Given the description of an element on the screen output the (x, y) to click on. 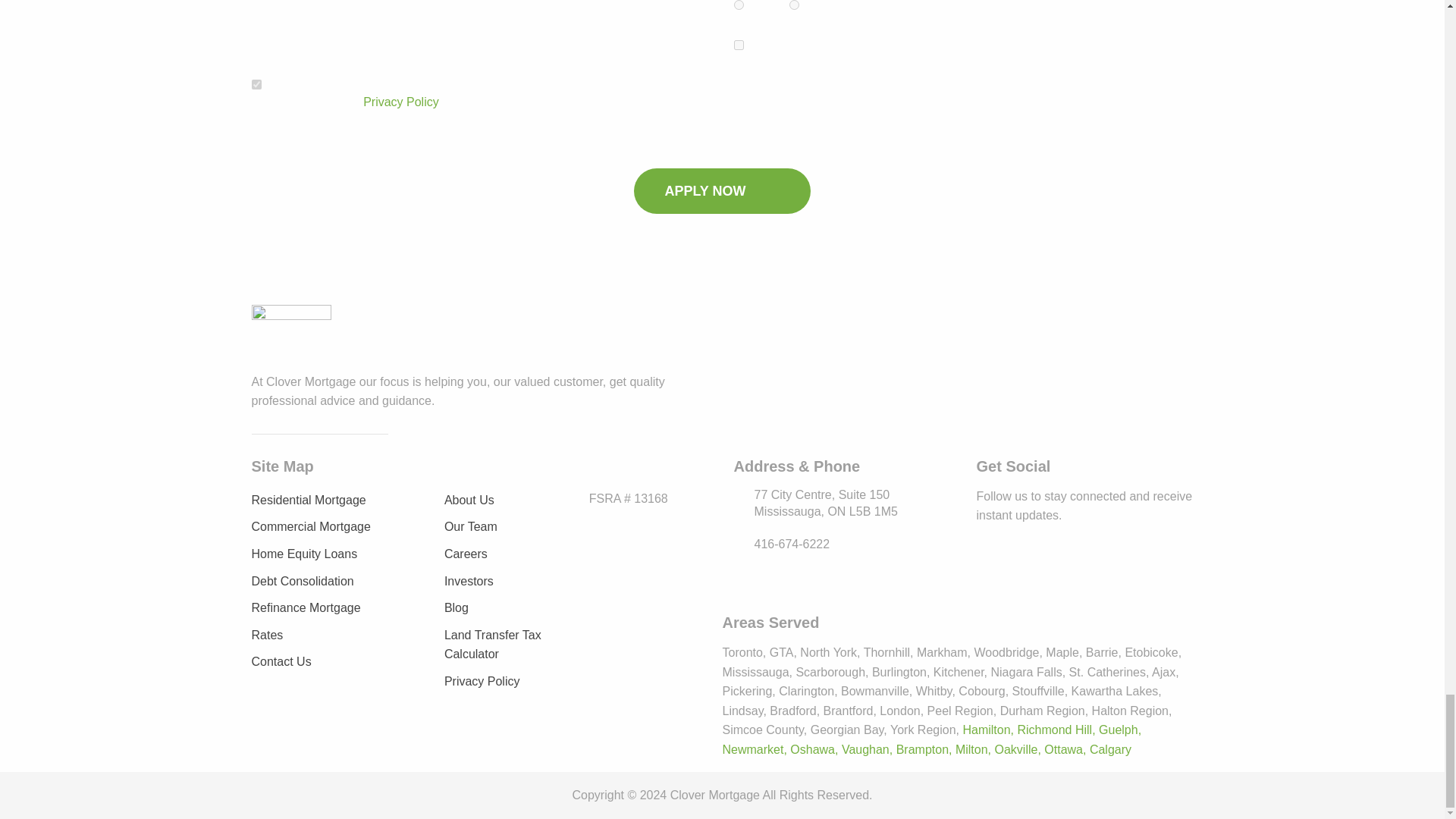
No (794, 4)
Yes (738, 44)
Yes (738, 4)
Yes (256, 84)
